Given the description of an element on the screen output the (x, y) to click on. 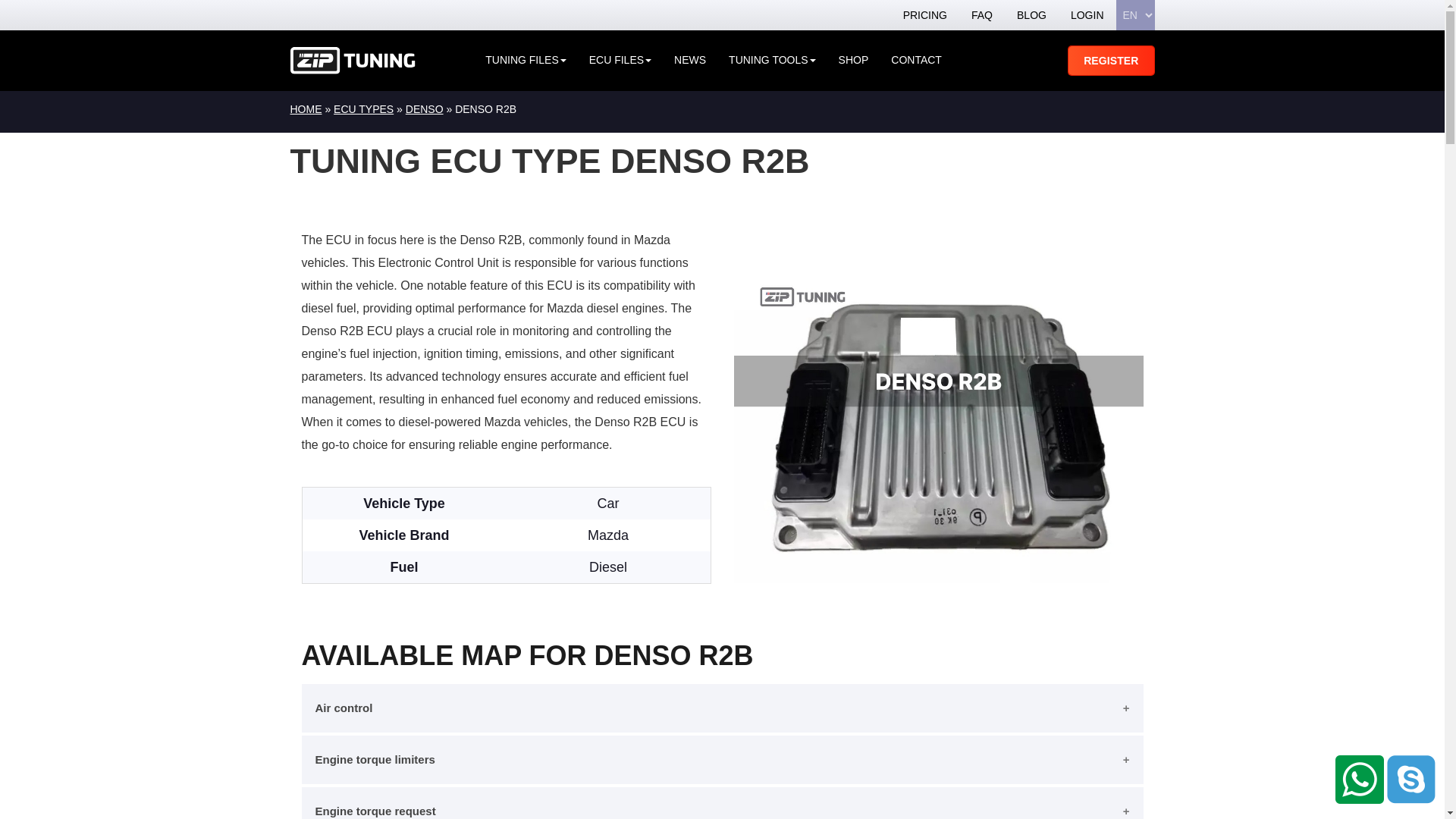
LOGIN (1087, 14)
ECU FILES (620, 60)
FAQ (981, 14)
PRICING (925, 14)
TUNING FILES (525, 60)
BLOG (1031, 14)
